Given the description of an element on the screen output the (x, y) to click on. 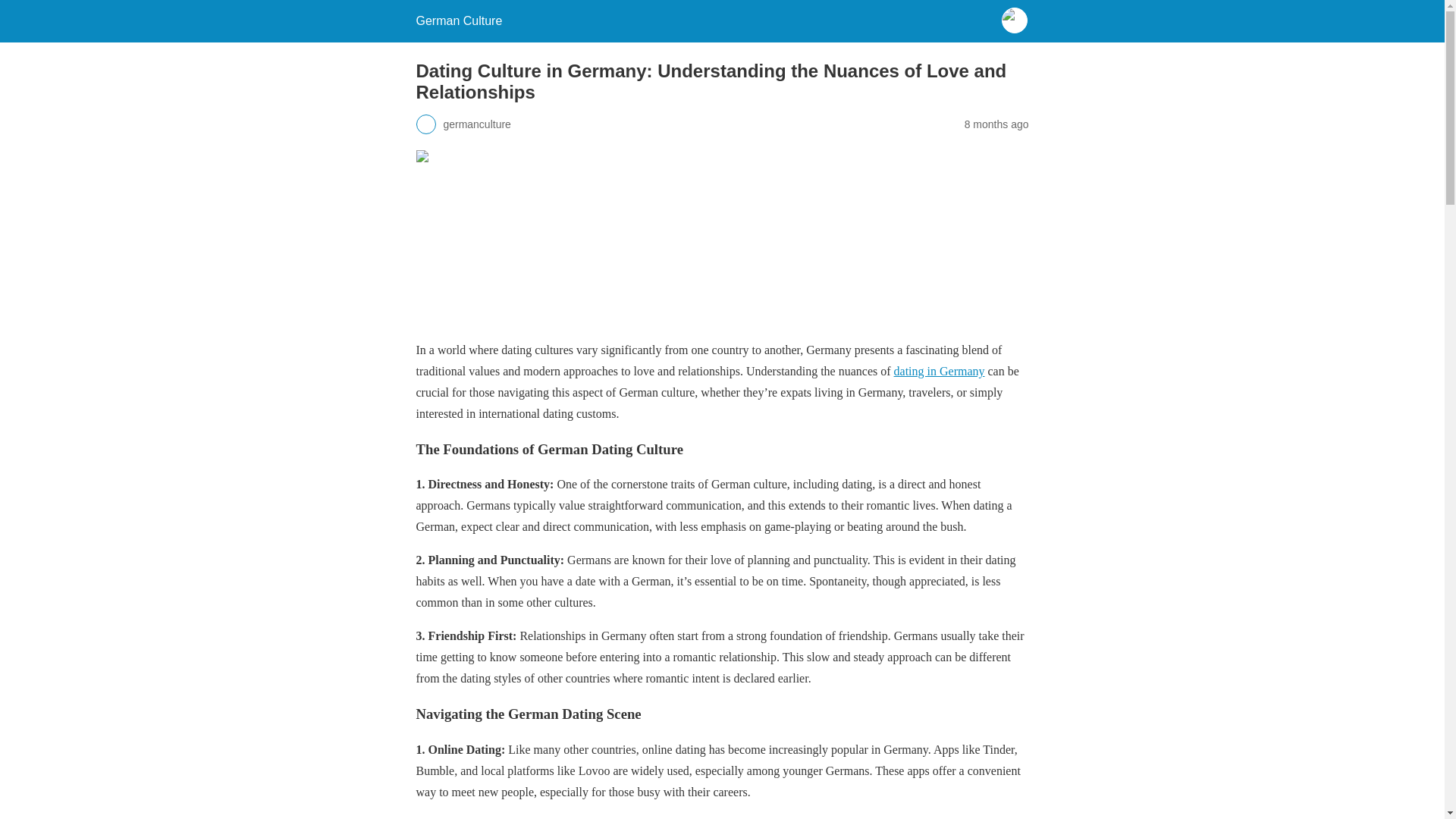
dating in Germany (939, 370)
German Culture (458, 20)
